Given the description of an element on the screen output the (x, y) to click on. 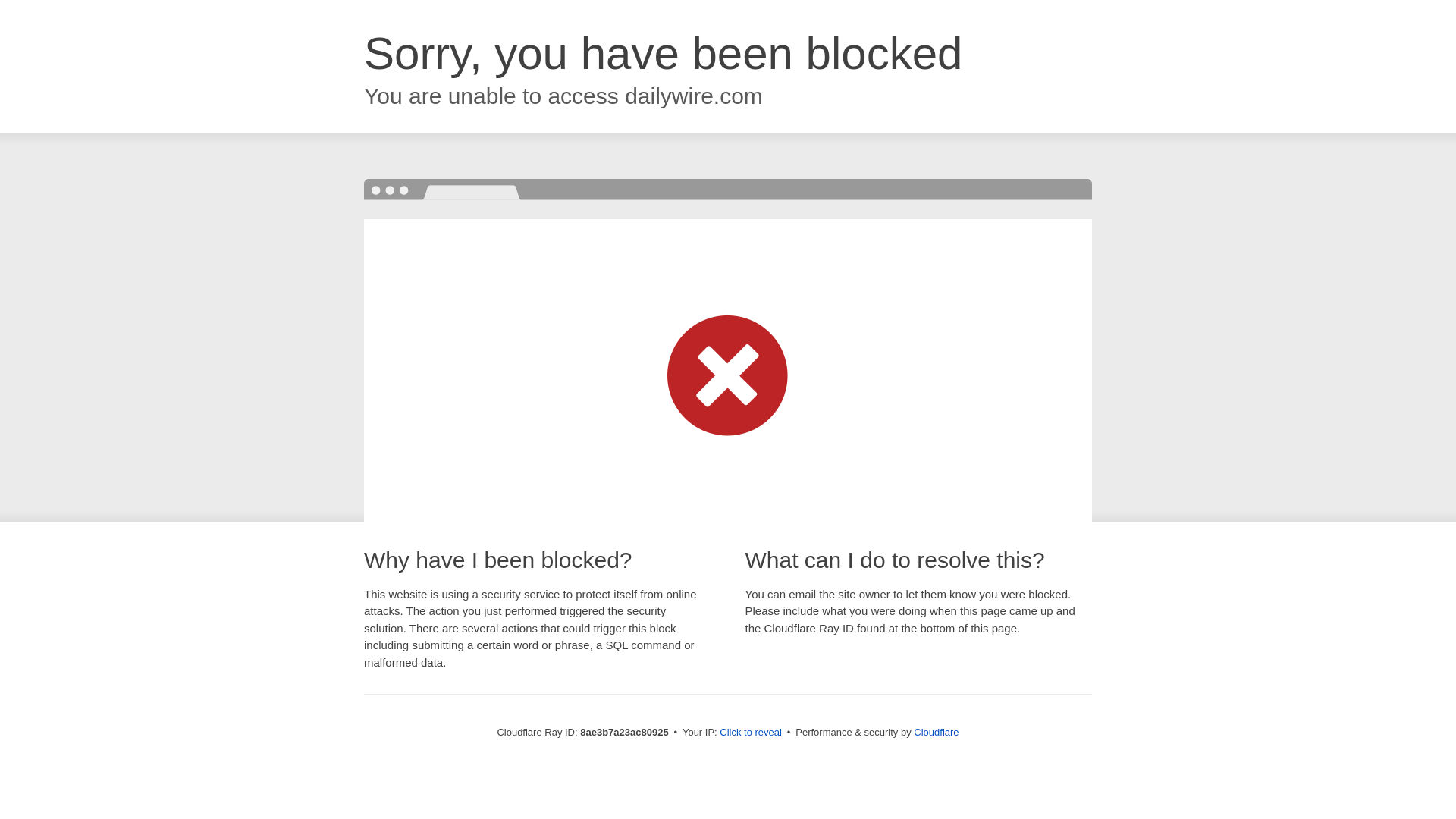
Click to reveal (750, 732)
Cloudflare (936, 731)
